Given the description of an element on the screen output the (x, y) to click on. 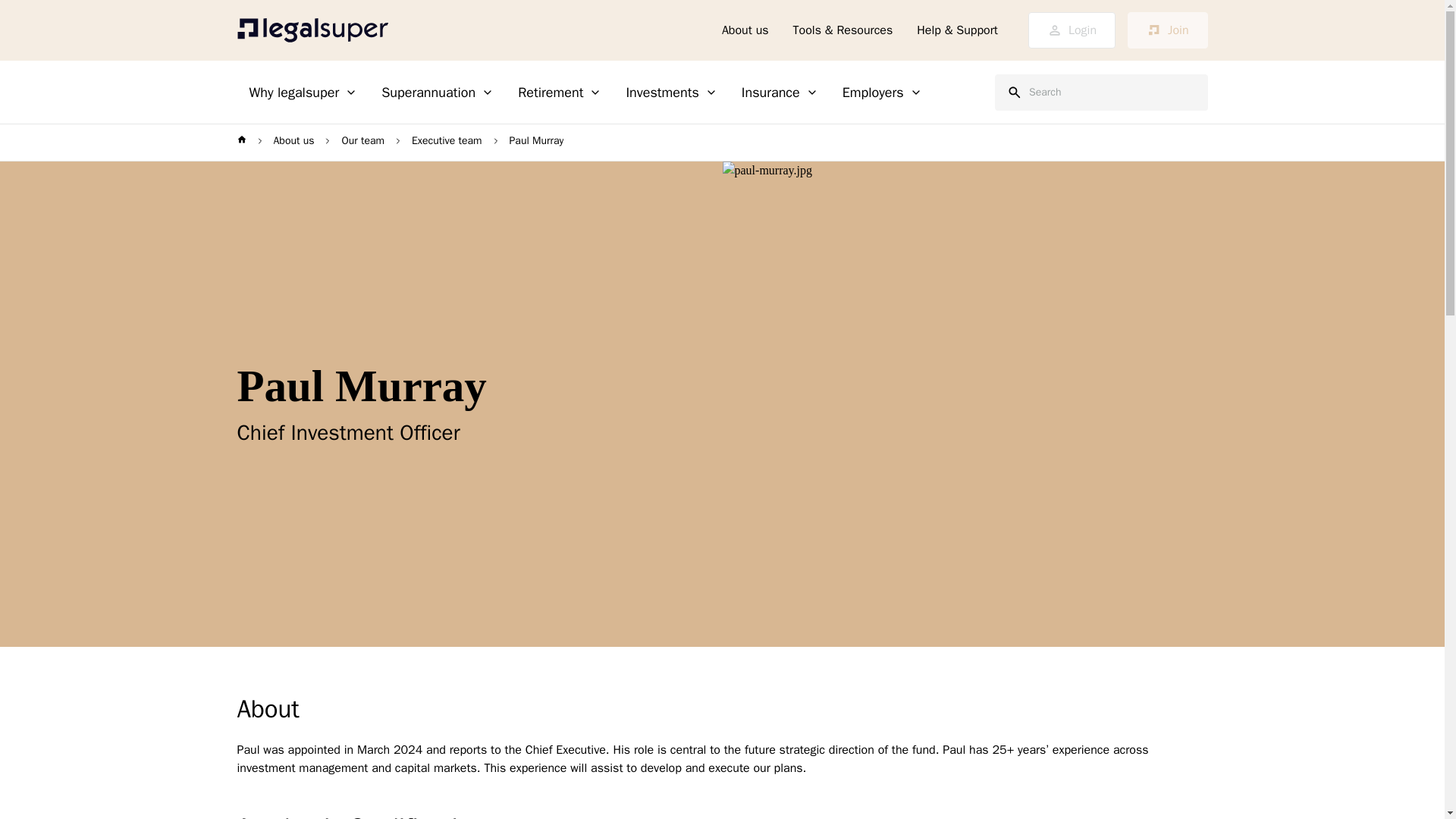
Retirement (558, 92)
Why legalsuper (302, 92)
Login (1071, 30)
Superannuation (437, 92)
About us (745, 30)
Home (311, 30)
Superannuation (437, 92)
Why legalsuper (302, 92)
About us (745, 30)
Join (1166, 30)
